Given the description of an element on the screen output the (x, y) to click on. 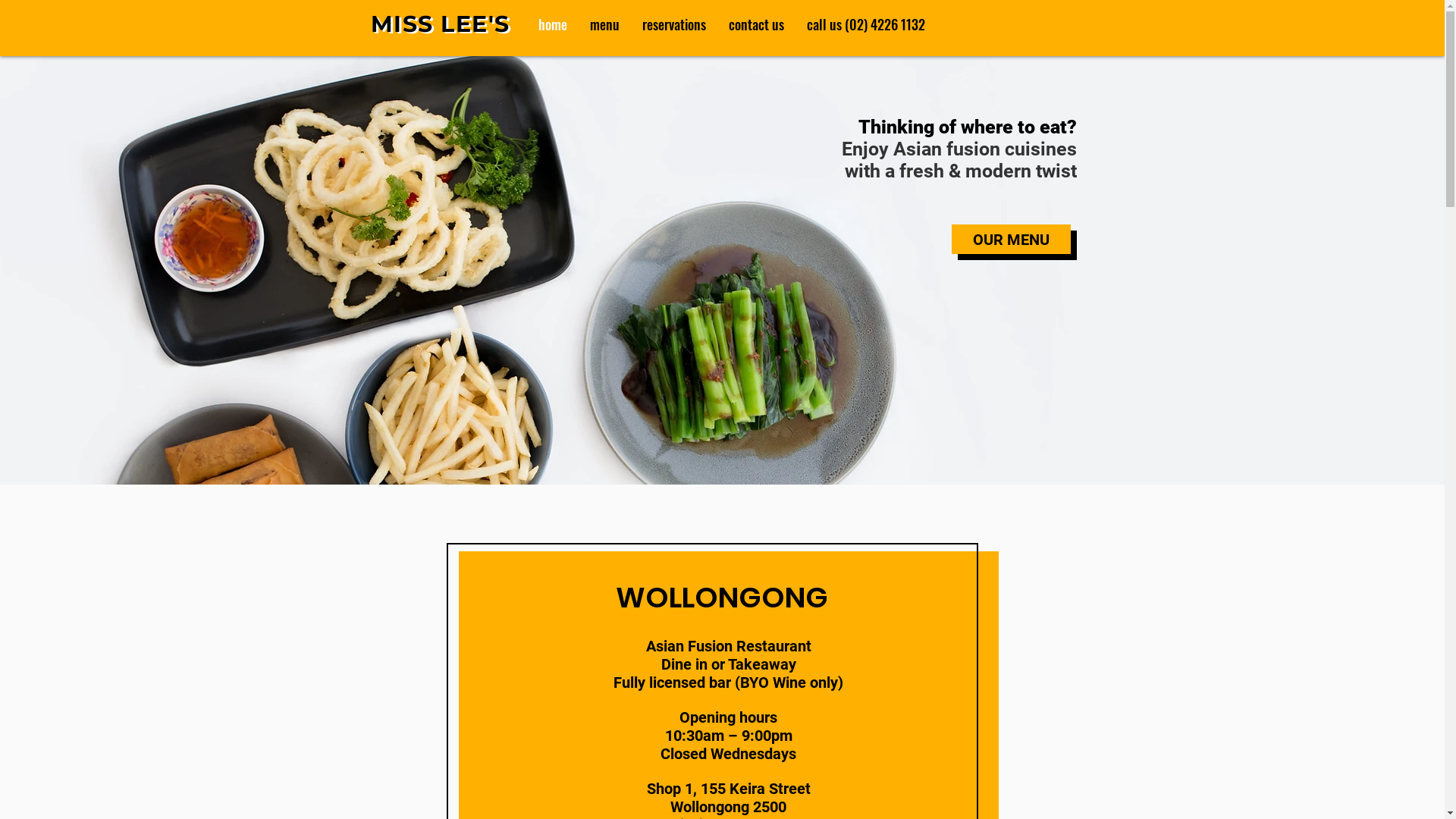
call us (02) 4226 1132 Element type: text (864, 24)
reservations Element type: text (673, 24)
menu Element type: text (603, 24)
home Element type: text (551, 24)
OUR MENU Element type: text (1010, 239)
contact us Element type: text (756, 24)
